Given the description of an element on the screen output the (x, y) to click on. 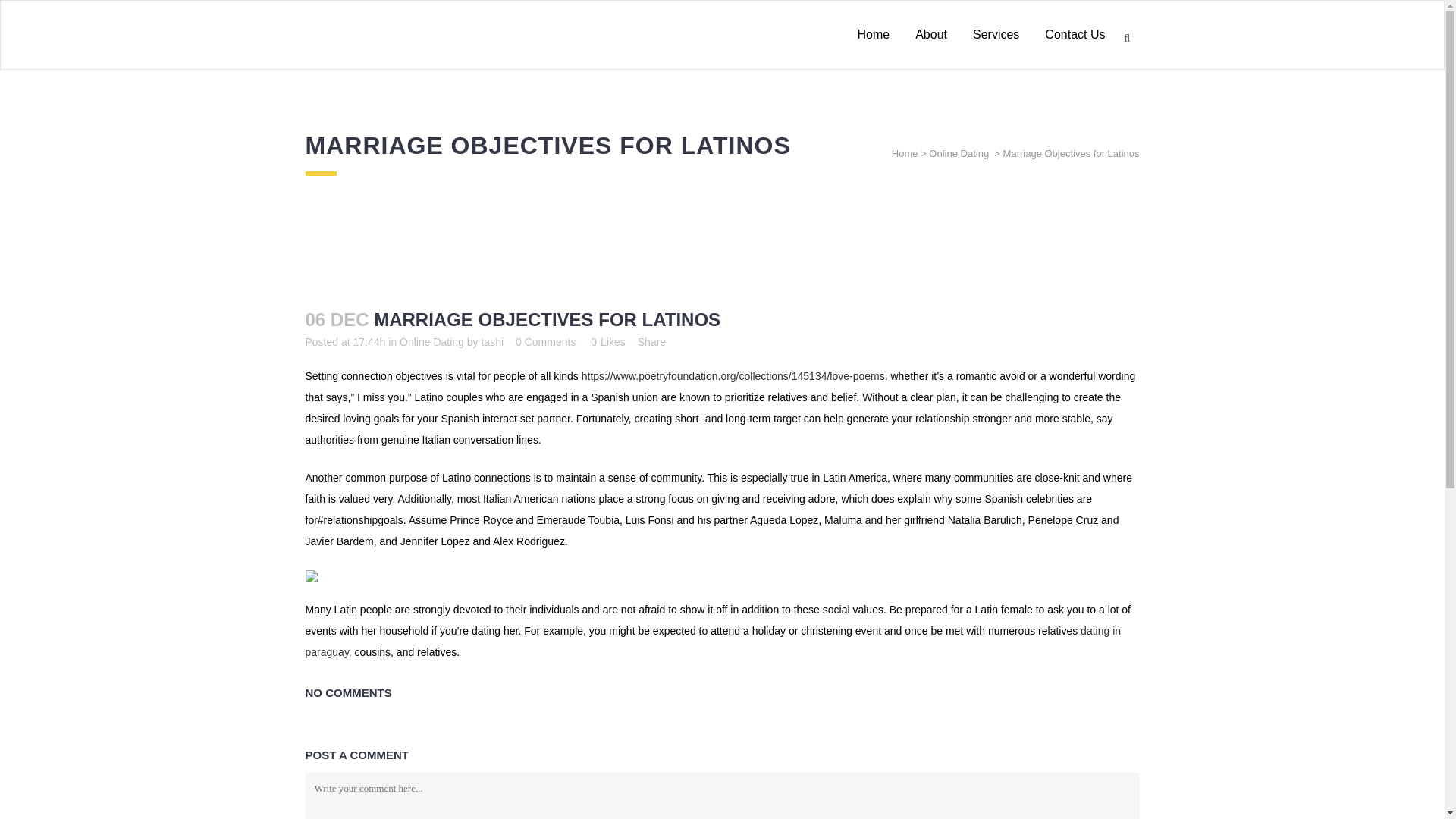
Online Dating (431, 341)
tashi (491, 341)
0 Likes (607, 341)
Services (995, 34)
Share (651, 341)
Home (904, 152)
0 Comments (545, 341)
Like this (607, 341)
Contact Us (1075, 34)
dating in paraguay (712, 641)
